Given the description of an element on the screen output the (x, y) to click on. 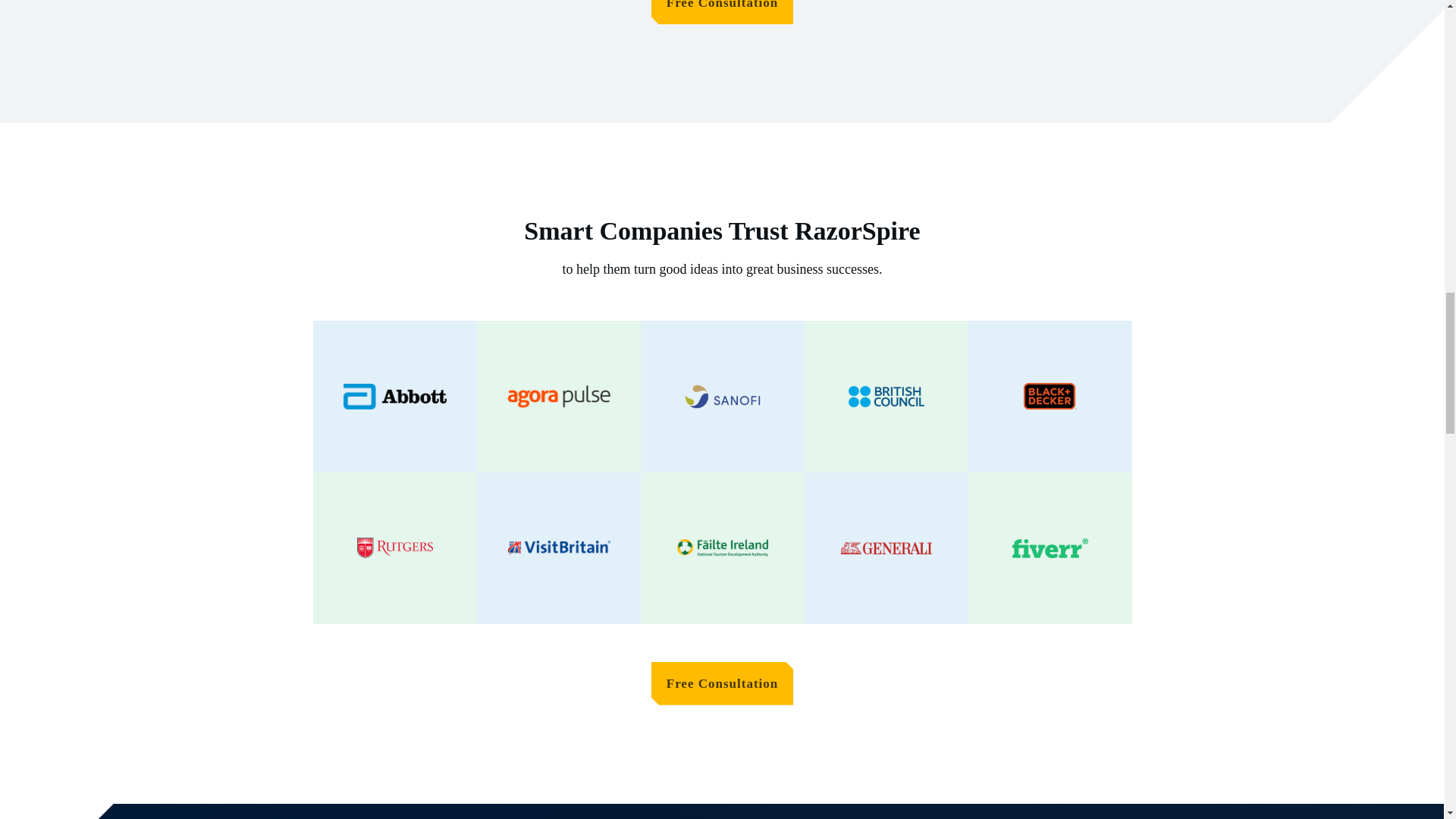
logo-britishcouncil- (885, 396)
Free Consultation (721, 683)
logo-abbott- (393, 396)
logo-blackdecker- (1050, 396)
logo-rutgers- (394, 547)
logo-generali- (885, 548)
logo-agora- (558, 396)
Free Consultation (721, 12)
logo-failteireland- (722, 547)
logo-visitbritain- (558, 547)
